Given the description of an element on the screen output the (x, y) to click on. 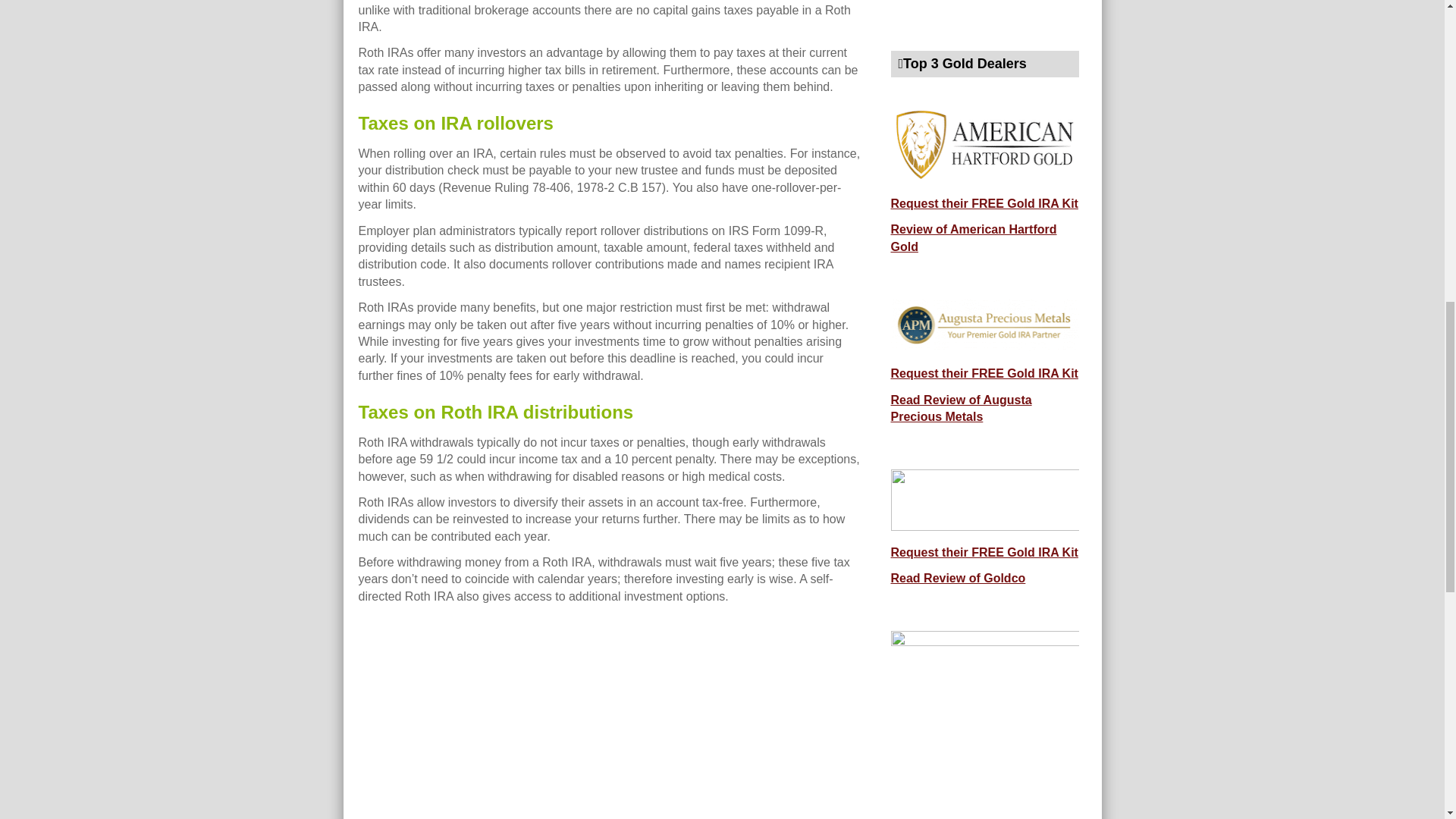
Request their FREE Gold IRA Kit (983, 373)
Read Review of Goldco (957, 577)
Request their FREE Gold IRA Kit (983, 552)
Review of American Hartford Gold (973, 237)
Request their FREE Gold IRA Kit (983, 203)
Read Review of Augusta Precious Metals (959, 408)
